Given the description of an element on the screen output the (x, y) to click on. 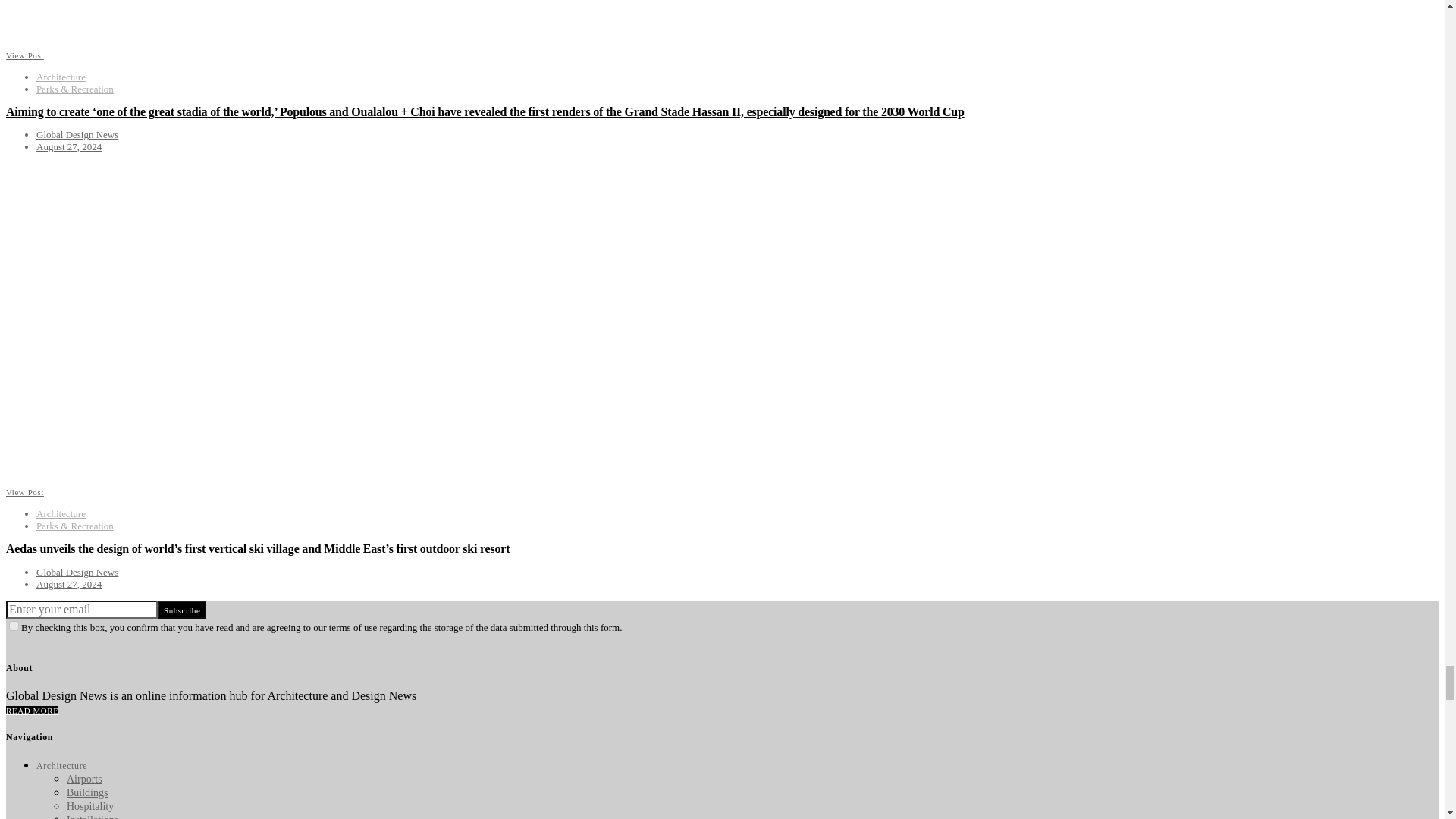
View all posts by Global Design News (76, 134)
View all posts by Global Design News (76, 572)
on (13, 625)
